Given the description of an element on the screen output the (x, y) to click on. 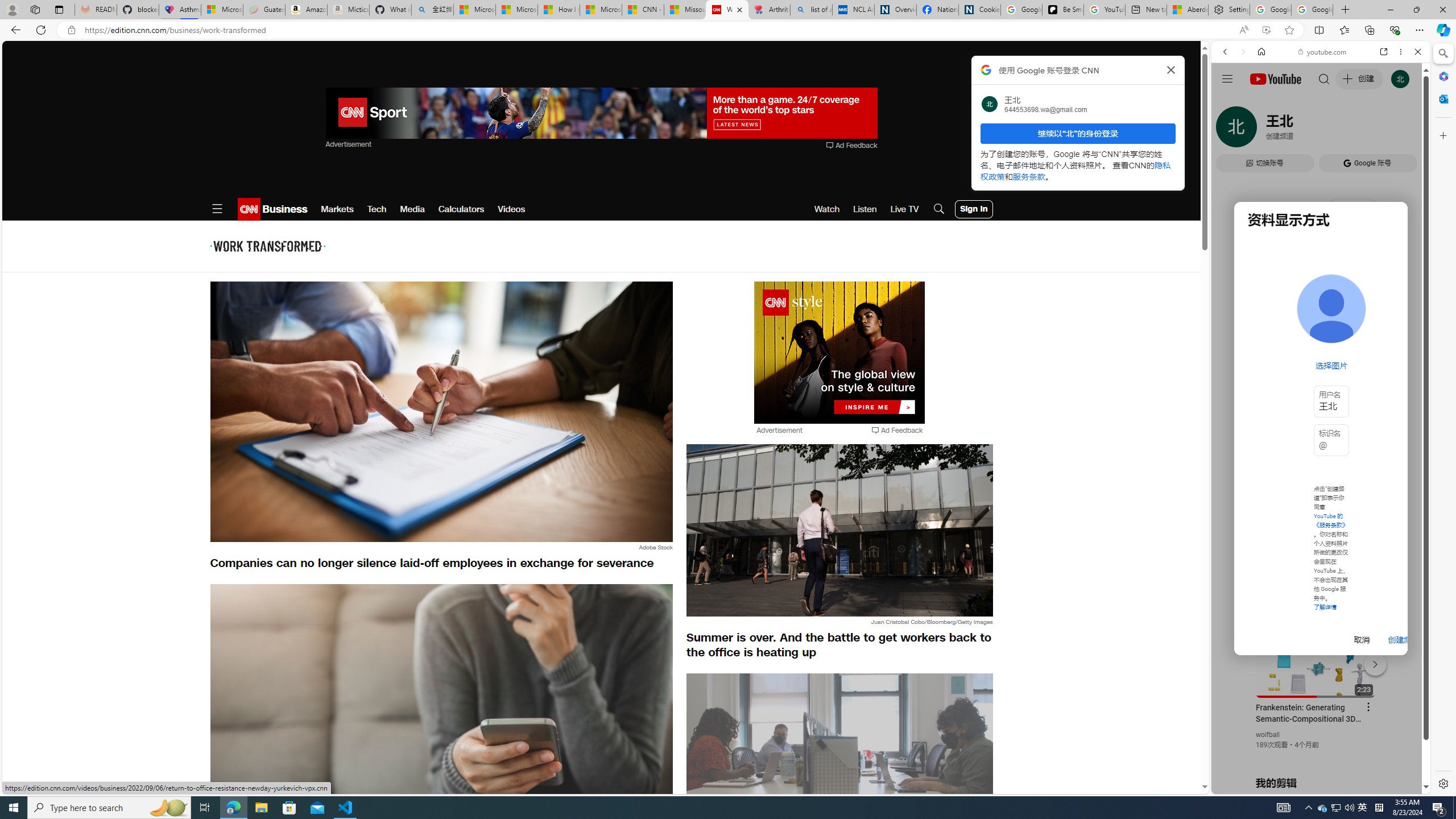
SEARCH TOOLS (1350, 130)
Click to scroll right (1407, 456)
This site scope (1259, 102)
